Given the description of an element on the screen output the (x, y) to click on. 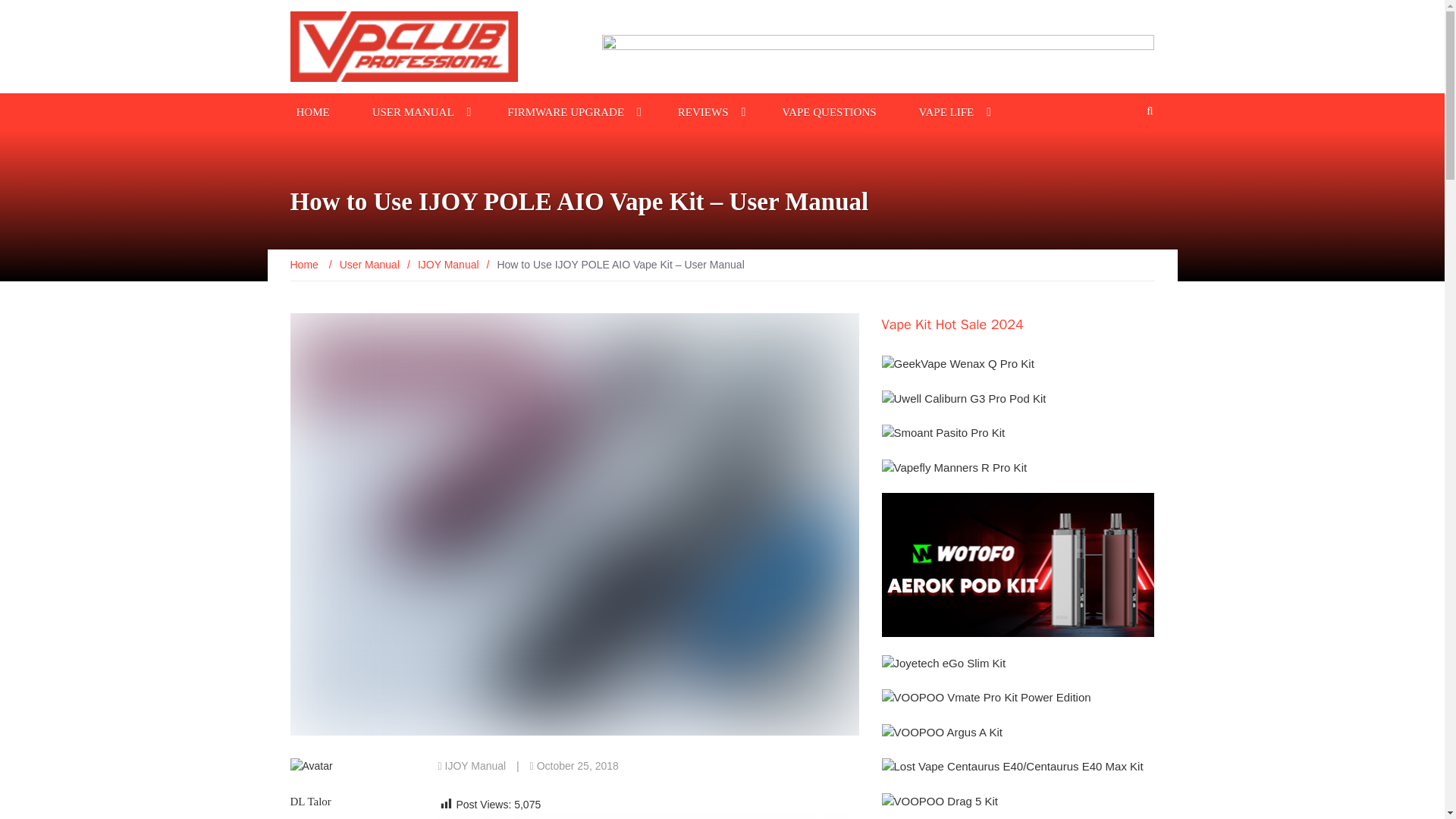
USER MANUAL (413, 110)
VAPE LIFE (945, 110)
HOME (311, 110)
REVIEWS (703, 110)
Posts by DL Talor (309, 801)
VAPE QUESTIONS (829, 110)
FIRMWARE UPGRADE (565, 110)
